Given the description of an element on the screen output the (x, y) to click on. 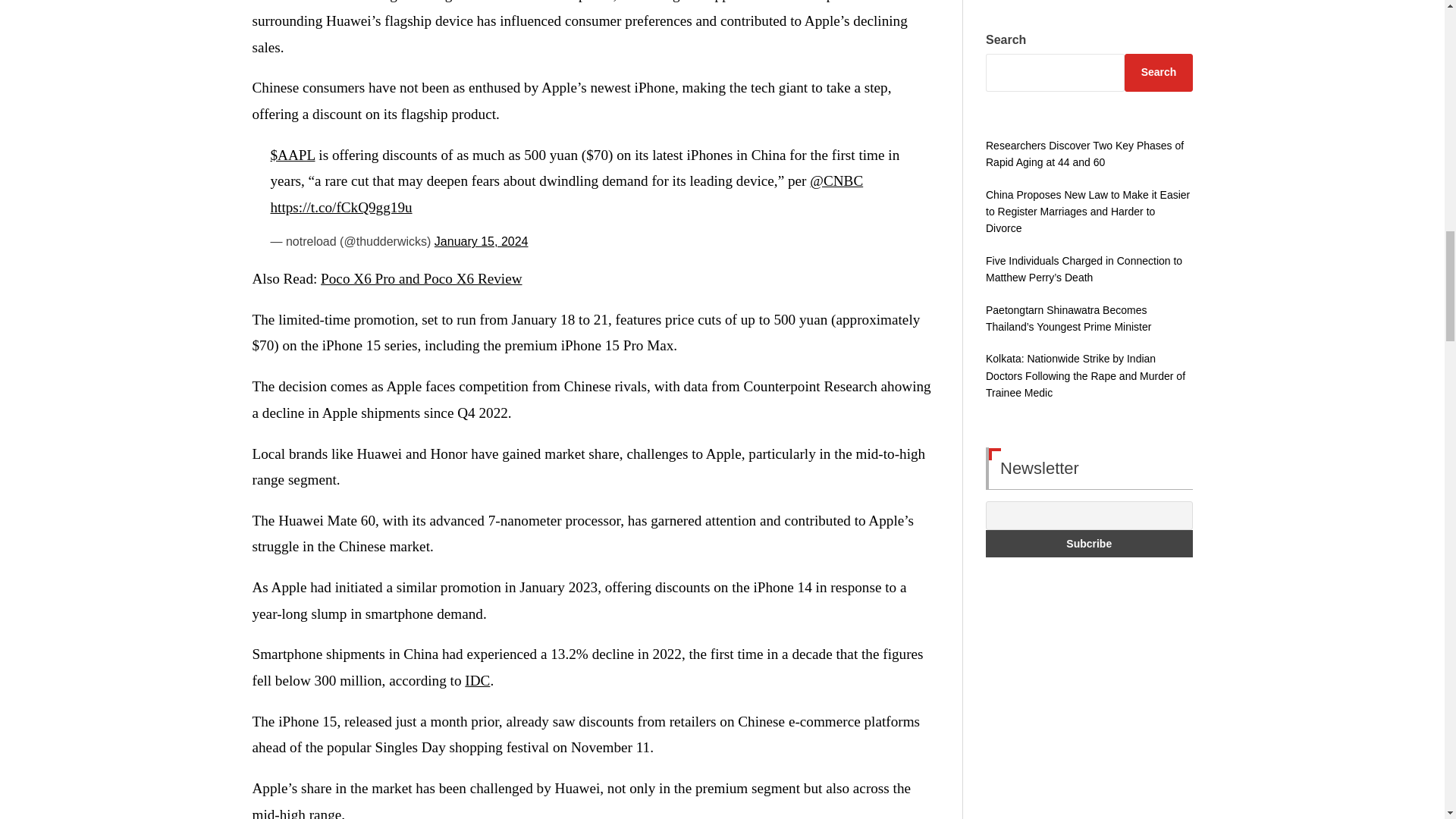
January 15, 2024 (480, 241)
IDC (476, 680)
Poco X6 Pro and Poco X6 Review (420, 278)
